Given the description of an element on the screen output the (x, y) to click on. 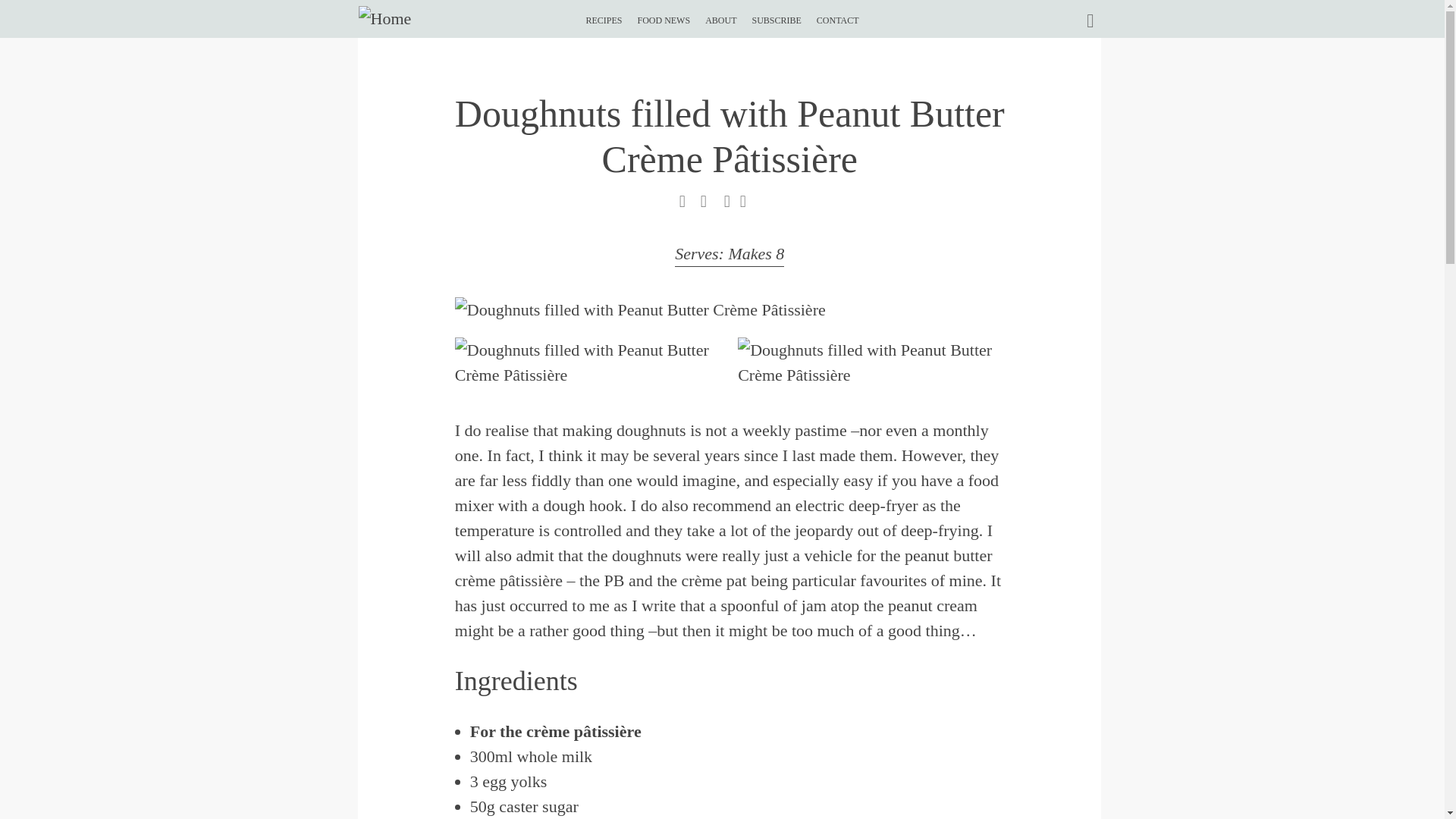
Caroline Barty (384, 18)
CONTACT (837, 13)
Pinterest (681, 205)
SUBSCRIBE (775, 13)
FOOD NEWS (663, 13)
RECIPES (603, 13)
ABOUT (720, 13)
